Given the description of an element on the screen output the (x, y) to click on. 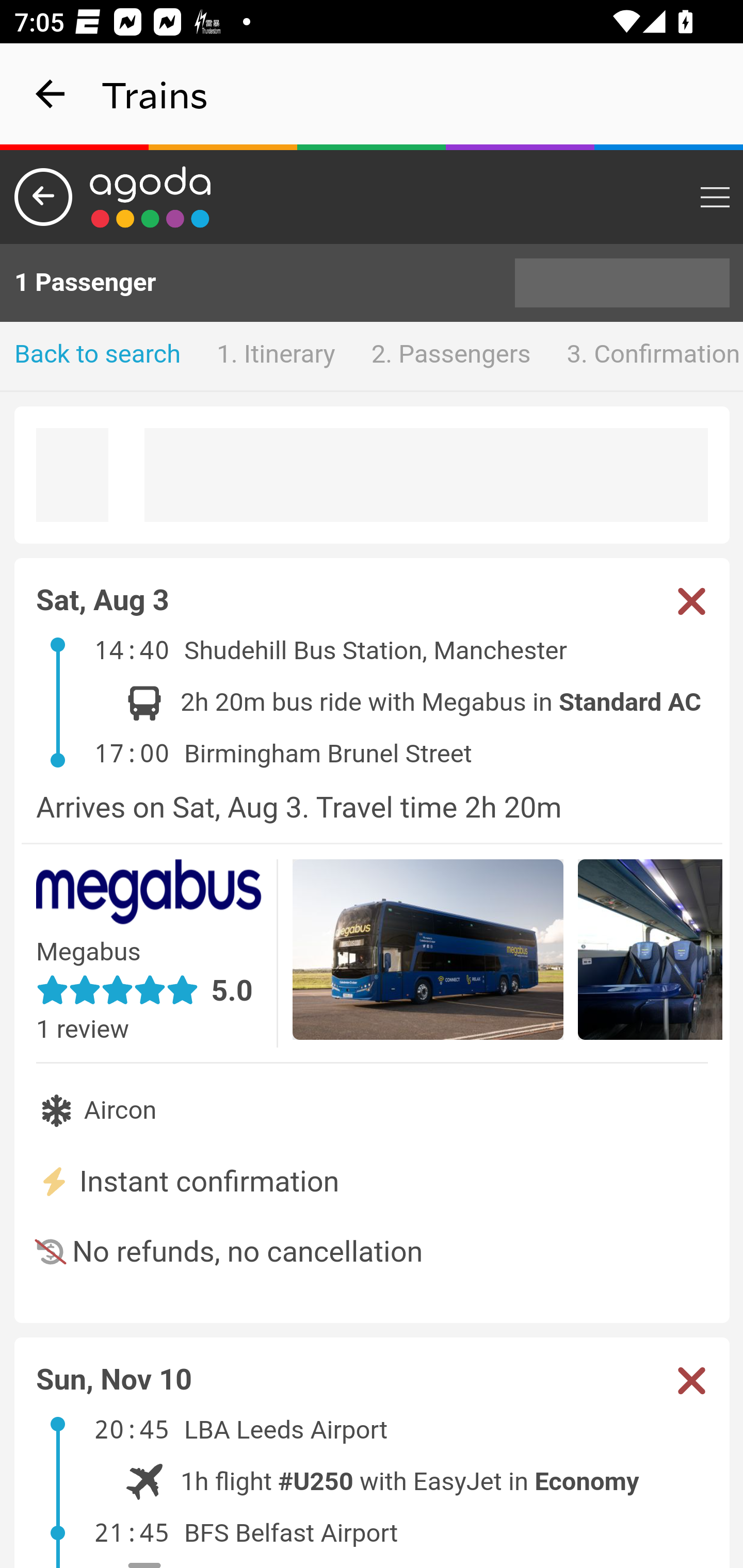
navigation_button (50, 93)
Link to main page 5418 (150, 197)
Back to search (98, 355)
Megabus Megabus    5.0 1 review (156, 952)
29-outside (427, 952)
29-inside (650, 952)
